Given the description of an element on the screen output the (x, y) to click on. 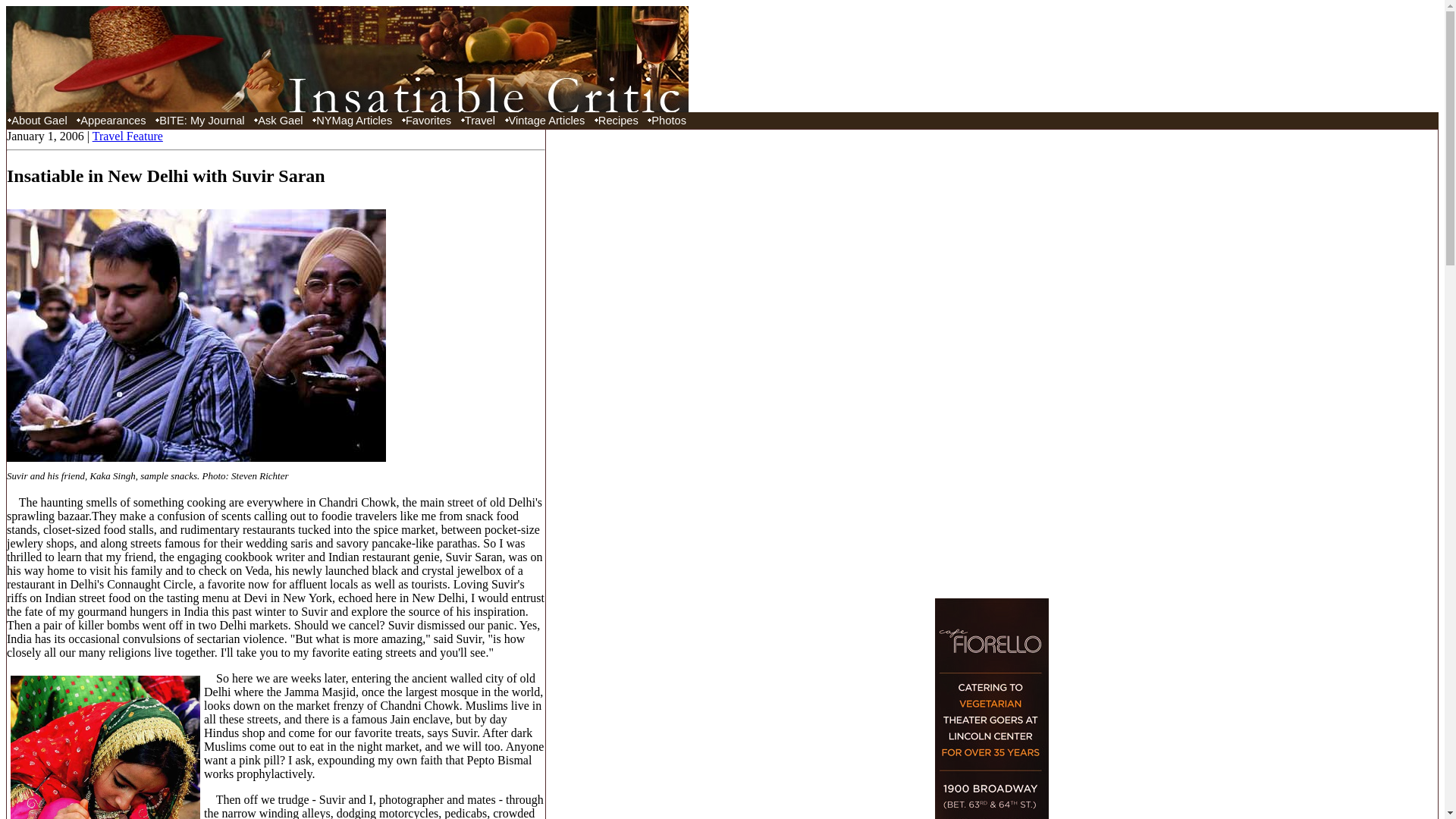
About Gael (39, 120)
Vintage Articles (546, 120)
Travel (479, 120)
Appearances (112, 120)
NYMag Articles (353, 120)
About Gael (39, 120)
Ask Gael (280, 120)
Appearances (112, 120)
Recipes (618, 120)
Favorites (428, 120)
BITE: My Journal (201, 120)
